Given the description of an element on the screen output the (x, y) to click on. 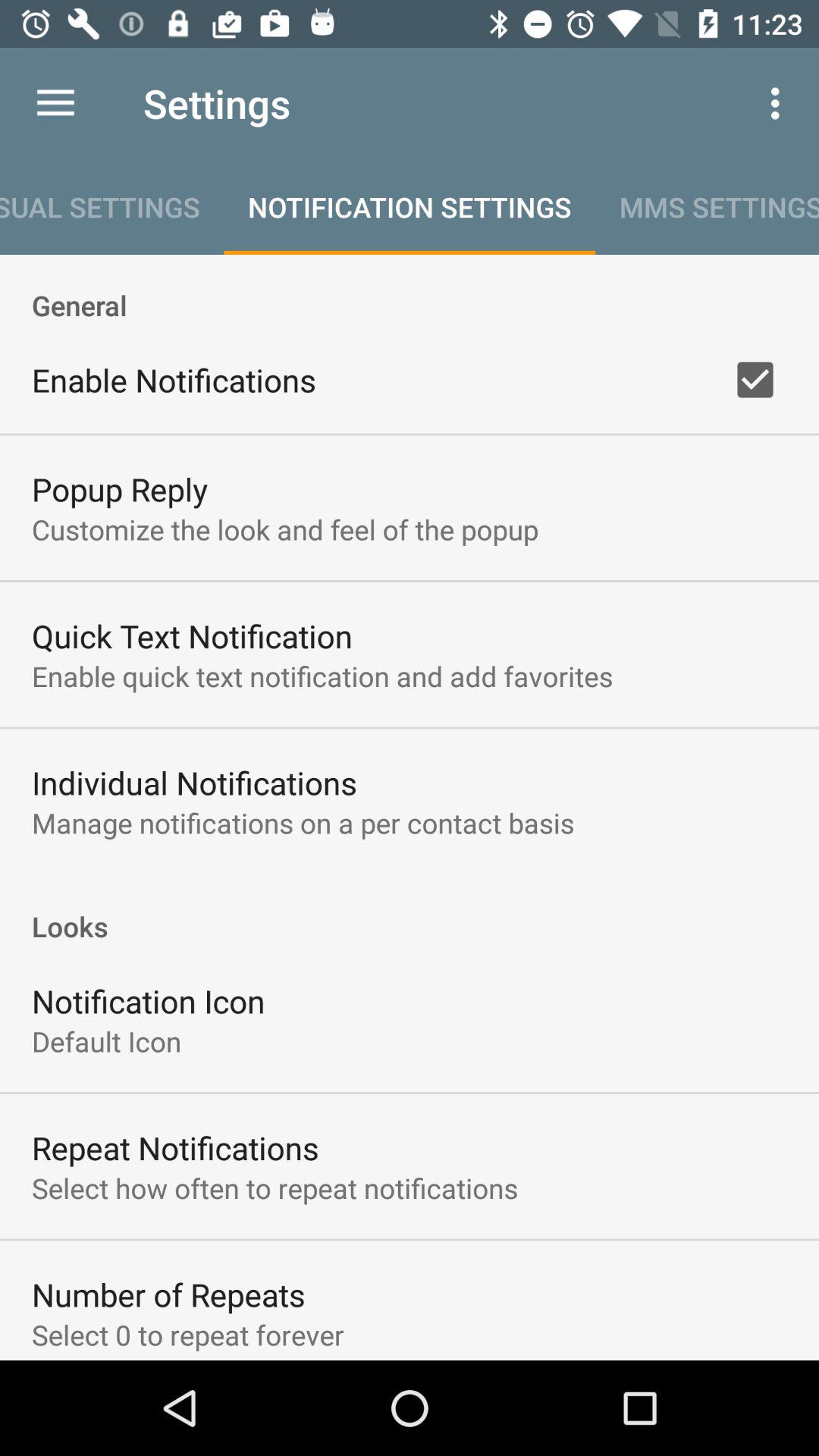
press the icon to the right of enable notifications (755, 379)
